Given the description of an element on the screen output the (x, y) to click on. 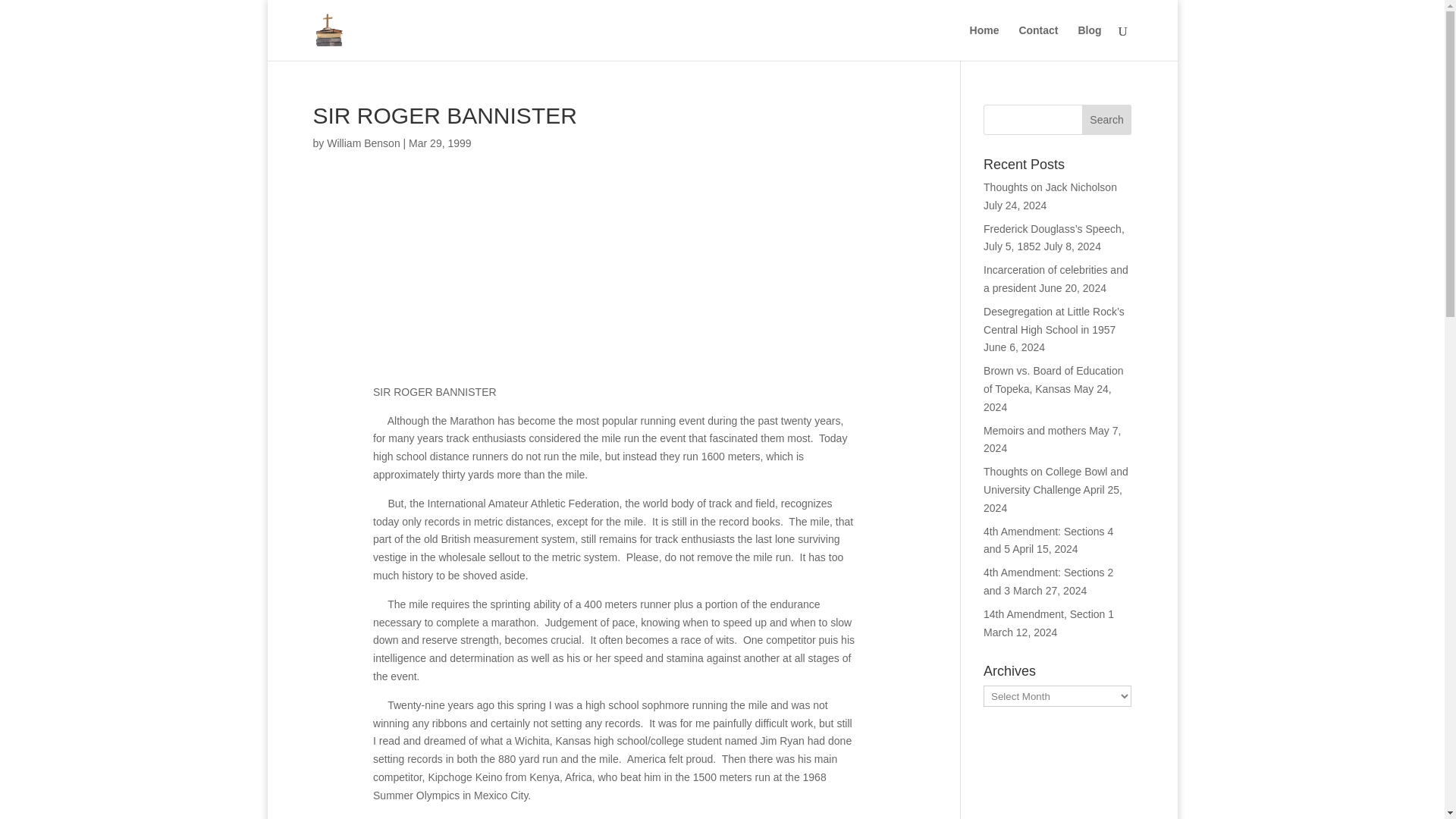
Contact (1037, 42)
Blog (1088, 42)
Posts by William Benson (362, 143)
Memoirs and mothers (1035, 430)
Brown vs. Board of Education of Topeka, Kansas (1053, 379)
Home (983, 42)
Thoughts on Jack Nicholson (1050, 186)
Incarceration of celebrities and a president (1056, 278)
4th Amendment: Sections 2 and 3 (1048, 581)
Search (1106, 119)
Thoughts on College Bowl and University Challenge (1056, 481)
14th Amendment, Section 1 (1048, 613)
Search (1106, 119)
William Benson (362, 143)
4th Amendment: Sections 4 and 5 (1048, 540)
